Given the description of an element on the screen output the (x, y) to click on. 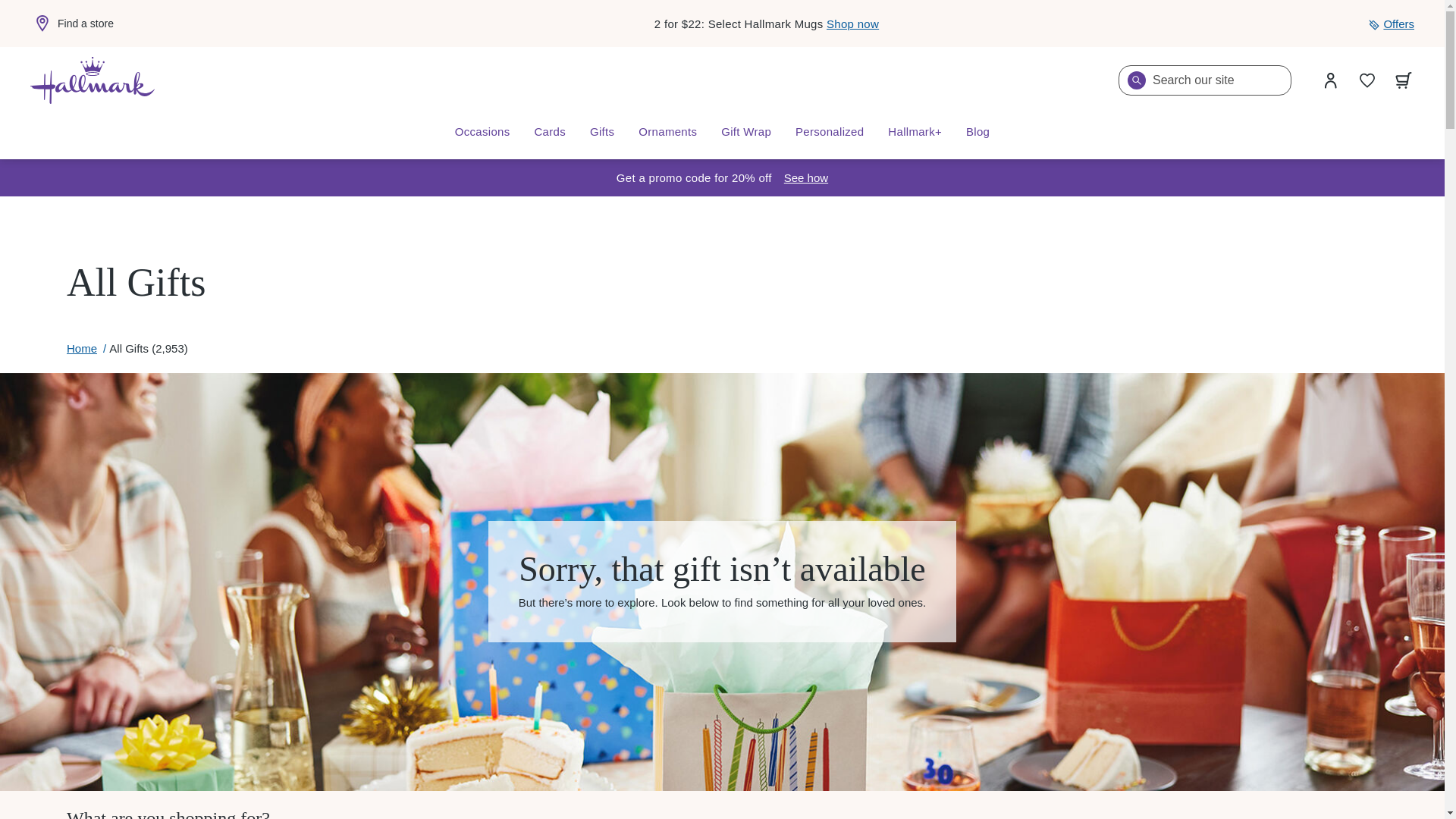
Offers (1390, 23)
Open shipping dates modal (806, 177)
Shop now (853, 22)
View your cart (1404, 80)
Wish List (1367, 80)
Home page (92, 80)
Search (1135, 80)
Find a store (71, 23)
